Given the description of an element on the screen output the (x, y) to click on. 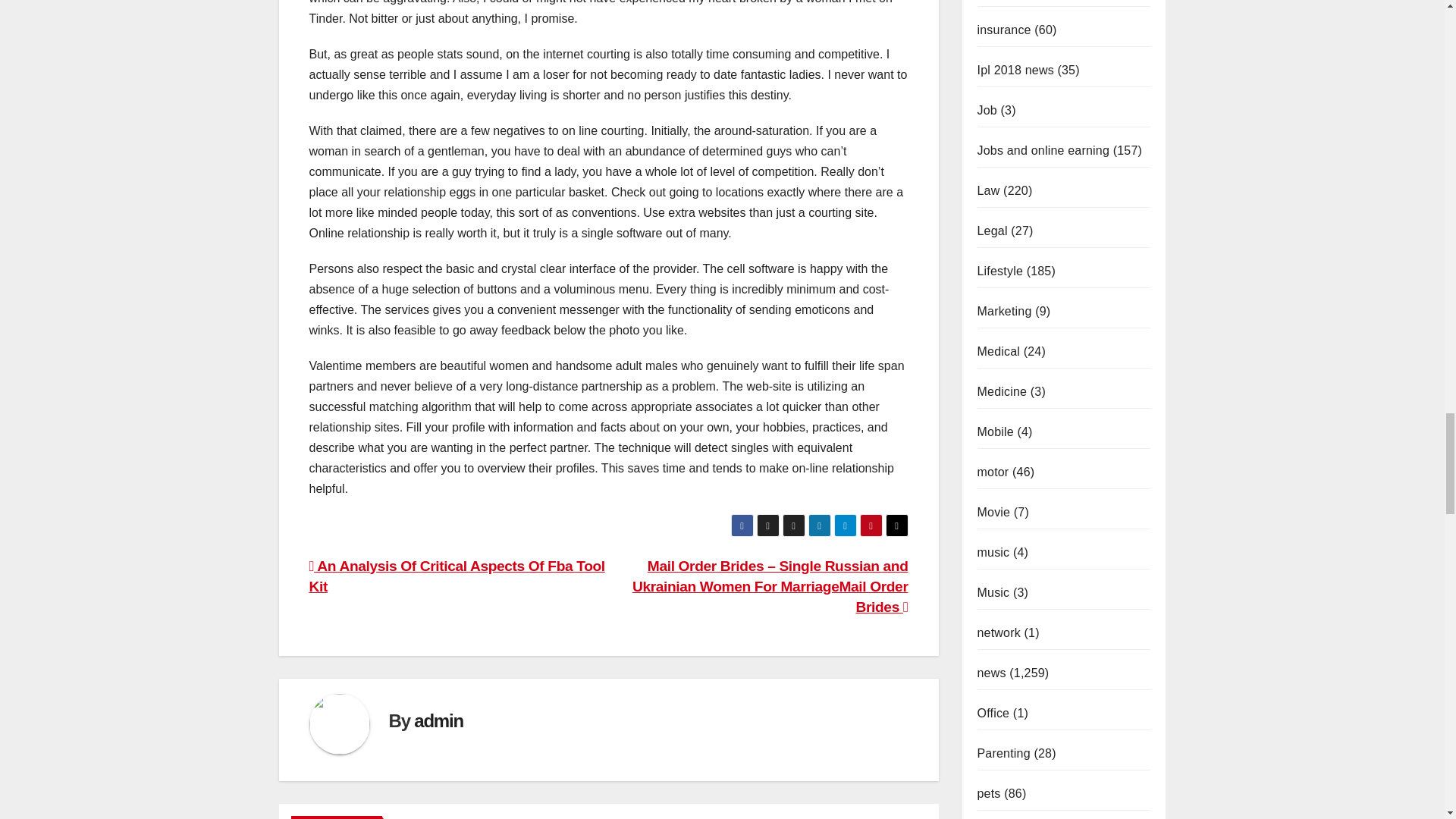
admin (438, 720)
An Analysis Of Critical Aspects Of Fba Tool Kit (456, 575)
